Given the description of an element on the screen output the (x, y) to click on. 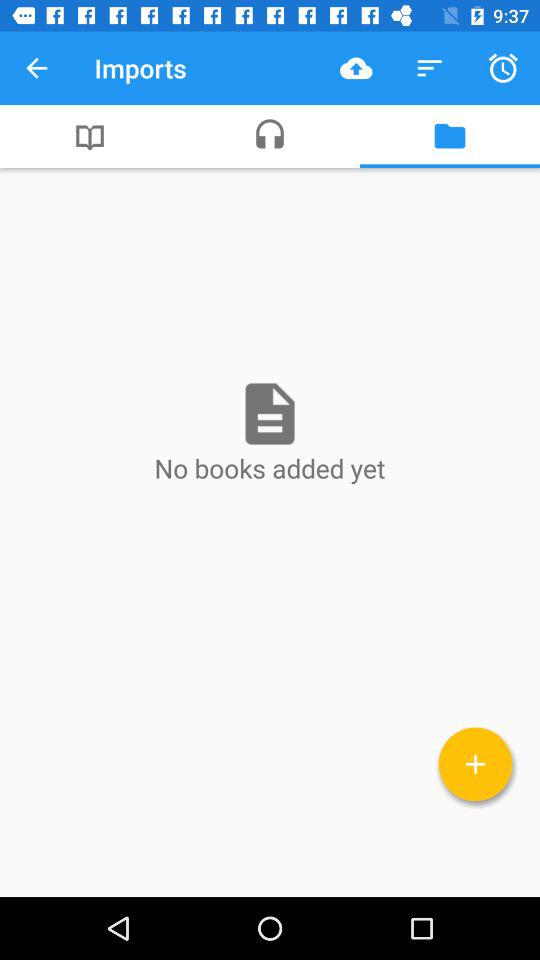
add books (475, 764)
